Given the description of an element on the screen output the (x, y) to click on. 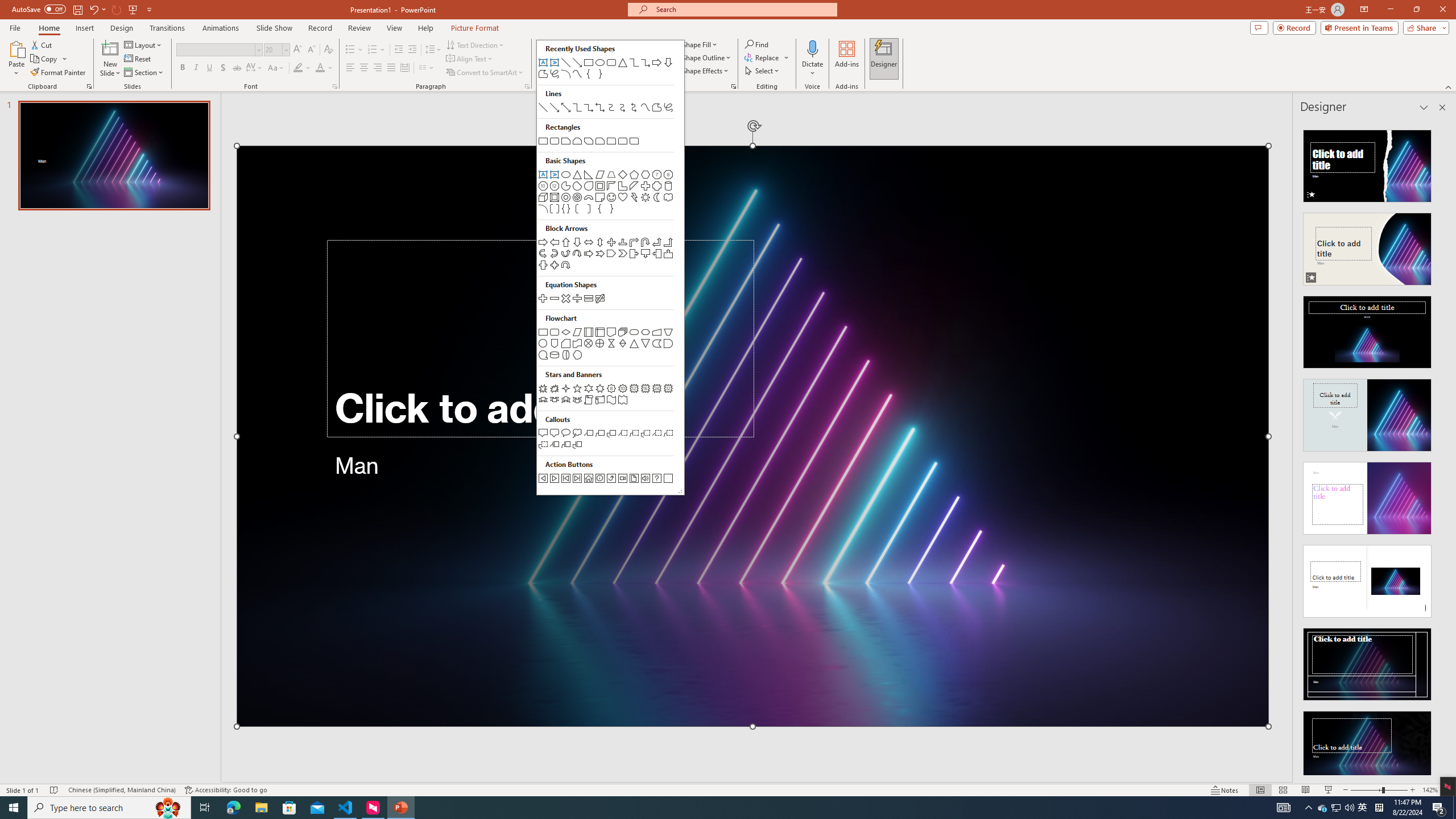
Increase Indent (412, 49)
Restore Down (1416, 9)
System (6, 6)
User Promoted Notification Area (1336, 807)
Paste (16, 58)
Microsoft Store (289, 807)
Format Object... (1335, 807)
Class: MsoCommandBar (733, 85)
Undo (728, 789)
Design Idea (92, 9)
Slide Show (1366, 743)
Q2790: 100% (273, 28)
Copy (1349, 807)
